Given the description of an element on the screen output the (x, y) to click on. 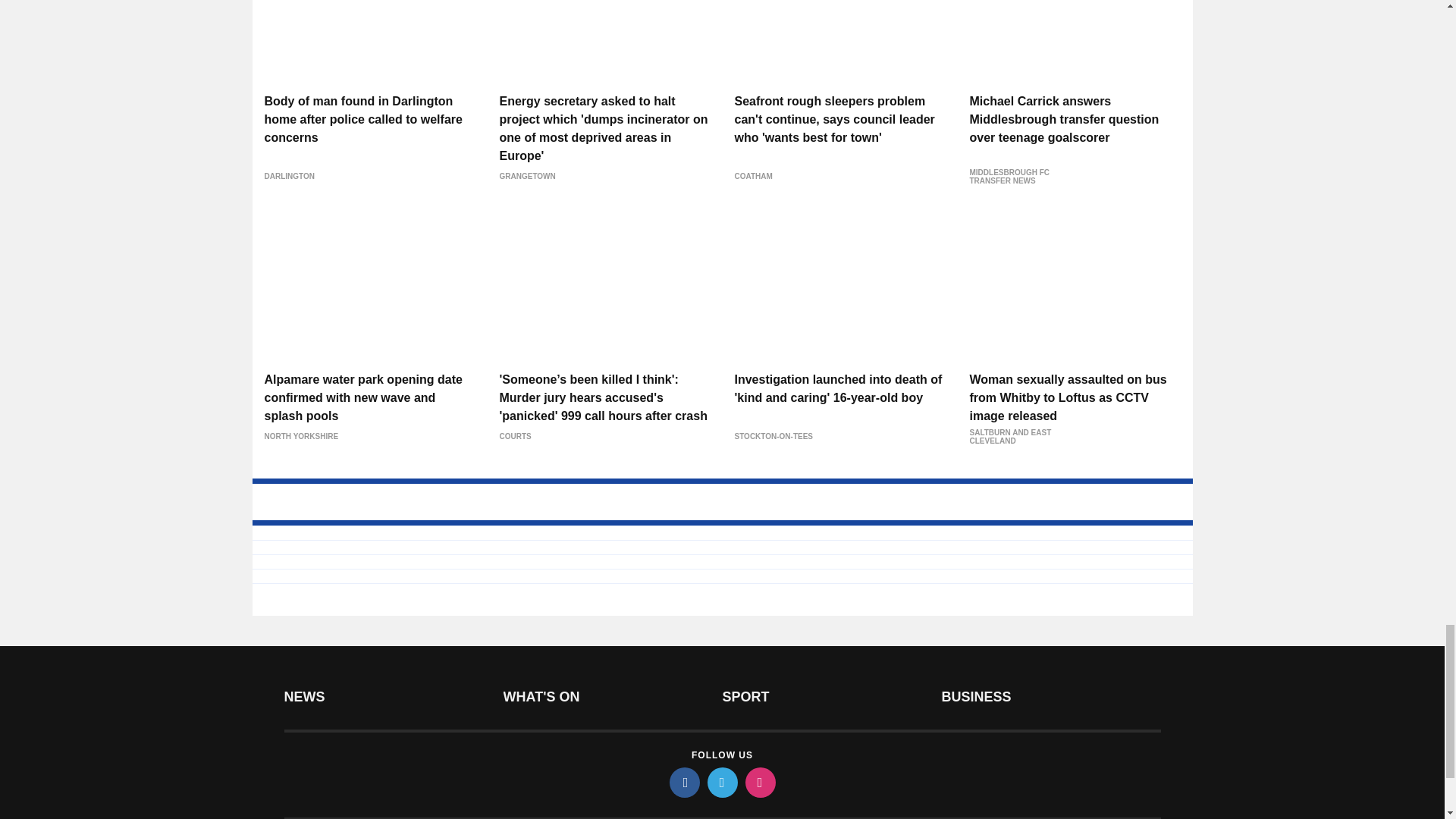
facebook (683, 782)
instagram (759, 782)
twitter (721, 782)
